Given the description of an element on the screen output the (x, y) to click on. 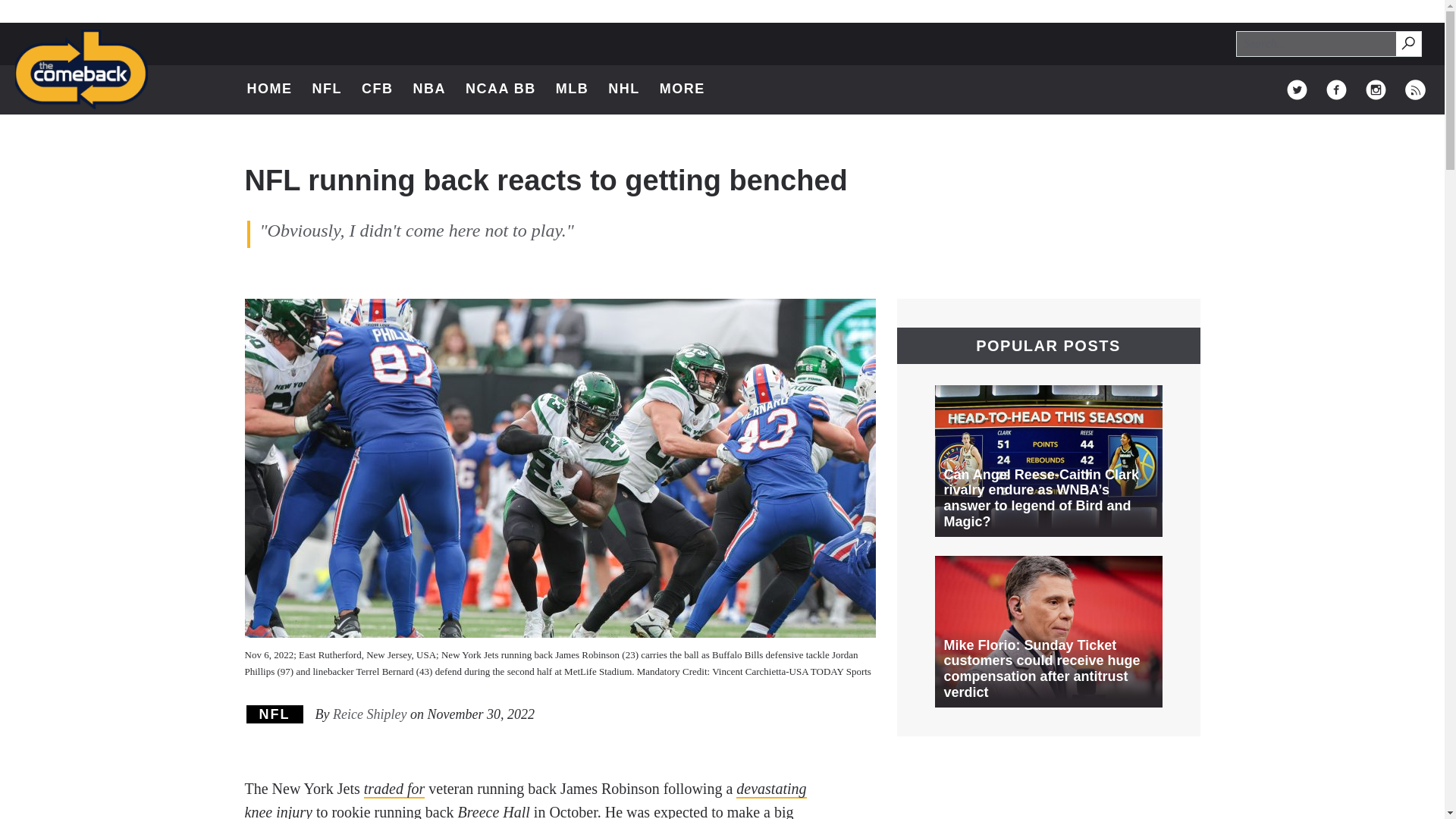
NCAA BB (1414, 89)
Link to RSS (1409, 43)
NBA (500, 89)
SEARCH (1414, 89)
View all posts in NFL (1375, 89)
HOME (428, 89)
MORE (1407, 42)
MLB (274, 714)
Link to Facebook (269, 89)
Primis Frame (689, 89)
